Given the description of an element on the screen output the (x, y) to click on. 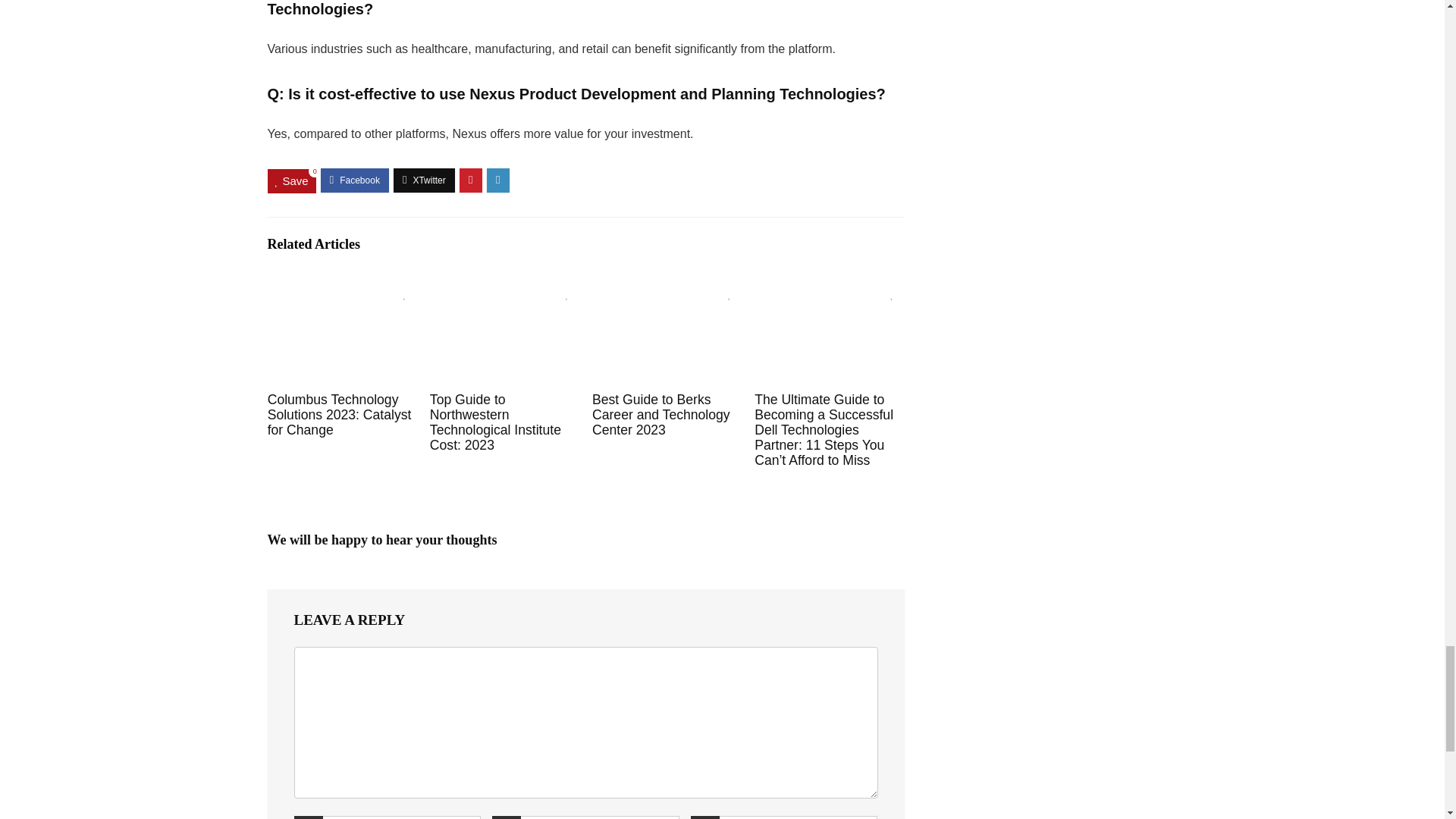
Best Guide to Berks Career and Technology Center 2023 (661, 414)
Top Guide to Northwestern Technological Institute Cost: 2023 (494, 422)
Columbus Technology Solutions 2023: Catalyst for Change (339, 414)
